Given the description of an element on the screen output the (x, y) to click on. 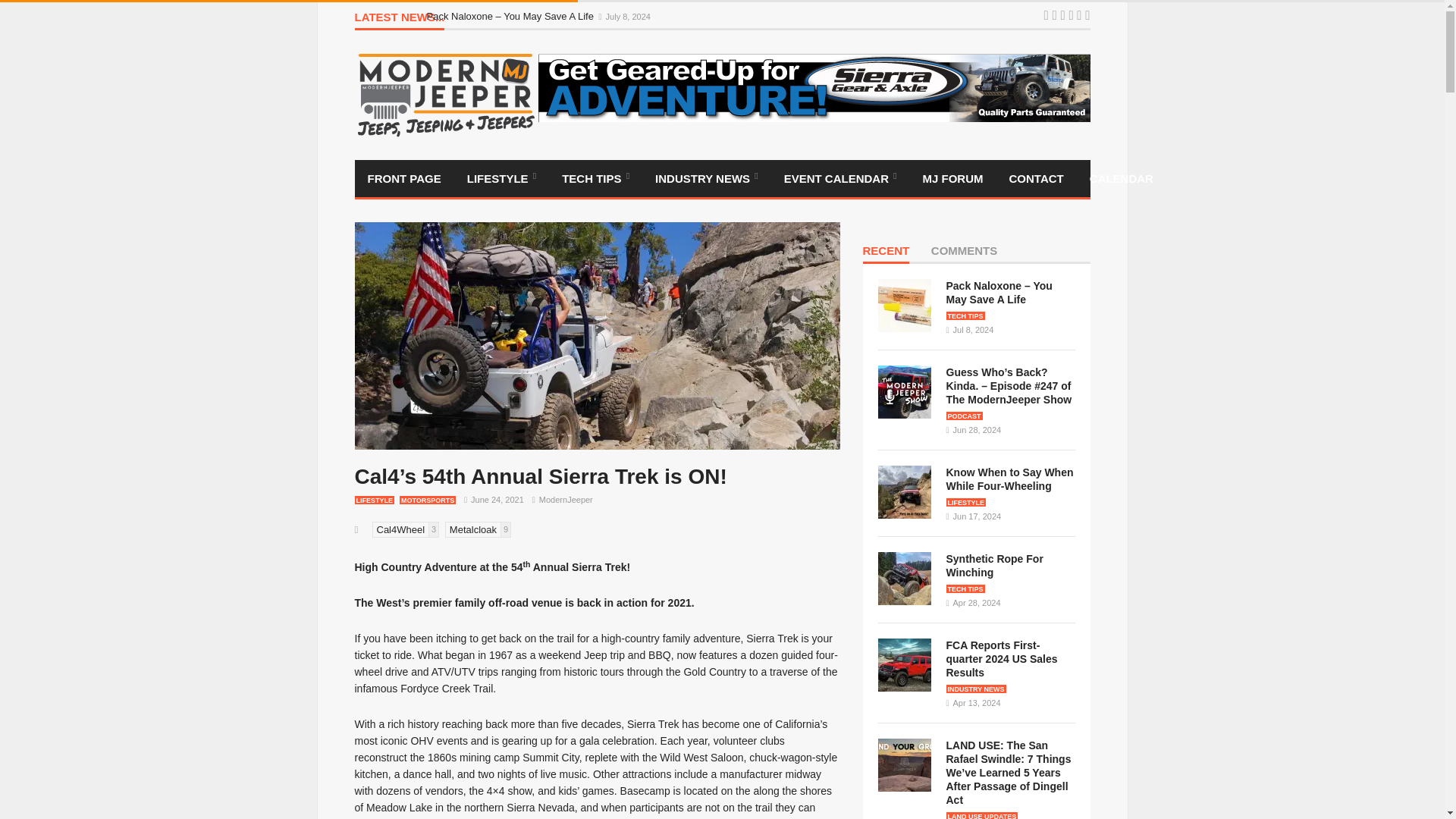
LATEST NEWS... (400, 20)
Contact (1036, 178)
Industry News (706, 178)
Event Calendar (840, 178)
Lifestyle (501, 178)
Front Page (404, 178)
Tech Tips (595, 178)
MJ Forum (952, 178)
